Given the description of an element on the screen output the (x, y) to click on. 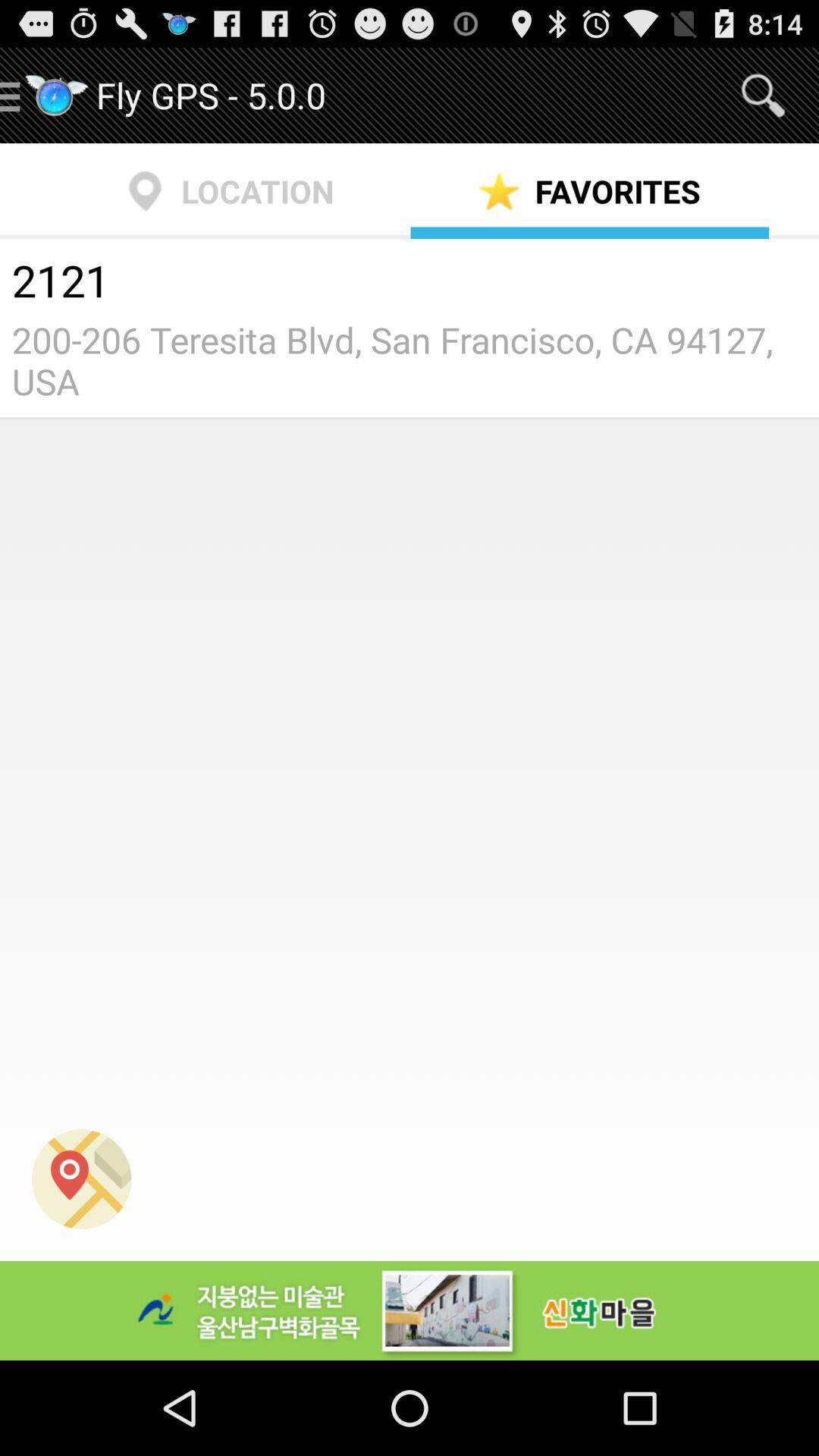
turn off the 2121 icon (409, 282)
